Given the description of an element on the screen output the (x, y) to click on. 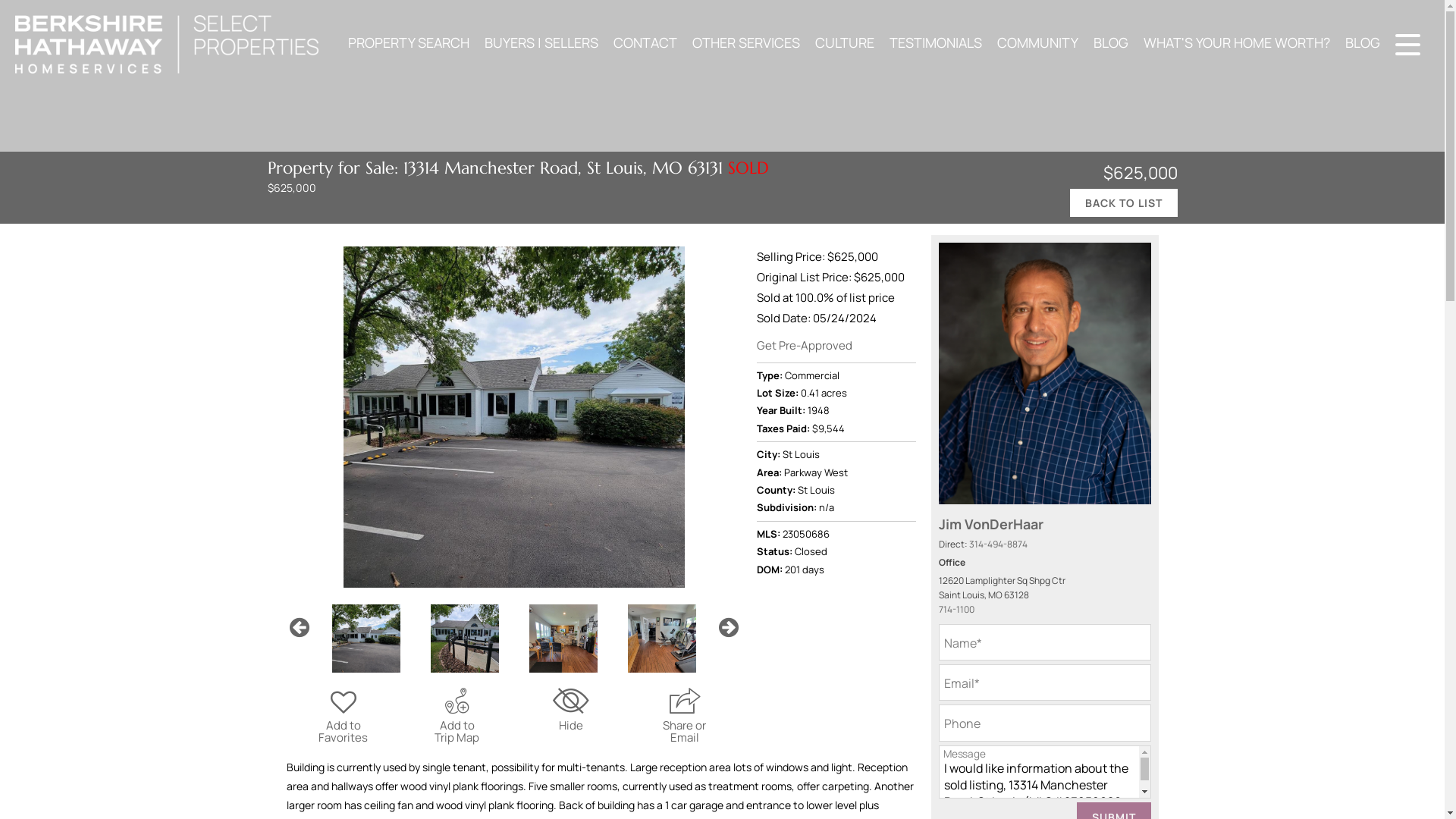
OTHER SERVICES (746, 42)
TESTIMONIALS (936, 42)
PROPERTY SEARCH (408, 42)
CULTURE (845, 42)
13314 Manchester Road St Louis MO 63131 (513, 417)
COMMUNITY (1038, 42)
CONTACT (644, 42)
